Given the description of an element on the screen output the (x, y) to click on. 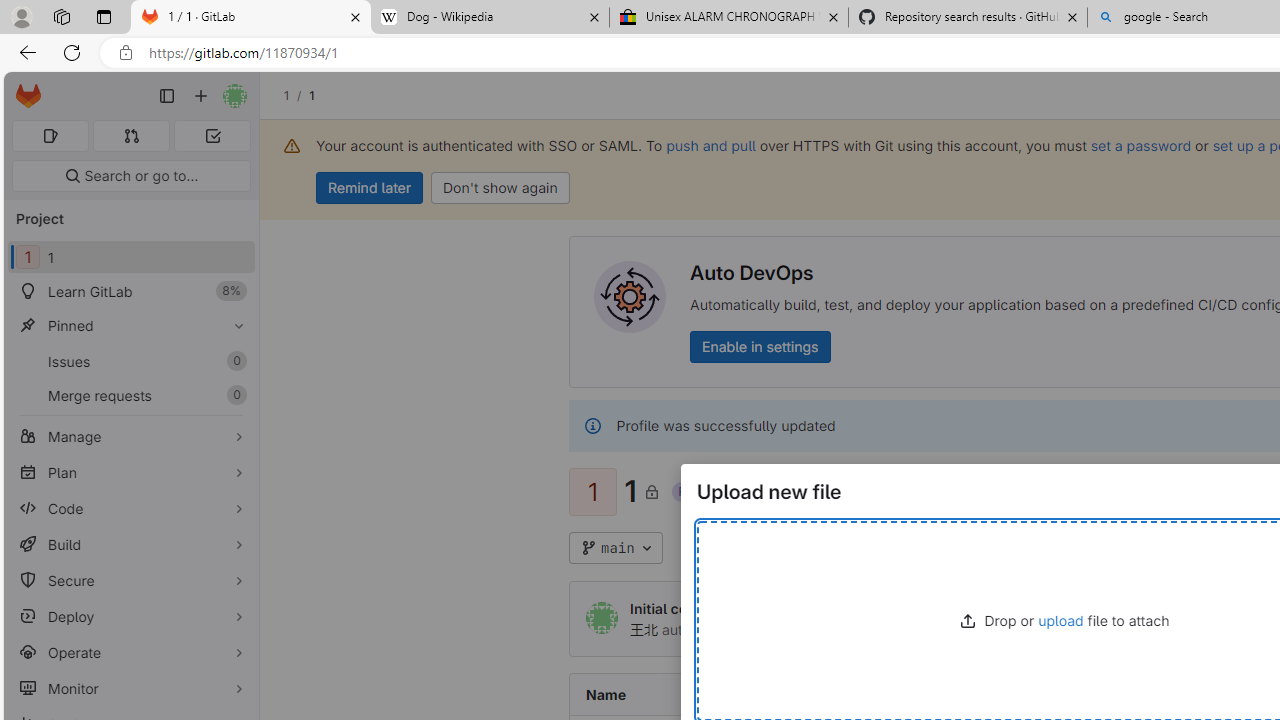
Remind later (369, 187)
Build (130, 543)
Initial commit (675, 608)
Issues0 (130, 361)
Class: s16 gl-alert-icon gl-alert-icon-no-title (592, 426)
Create new... (201, 96)
Unpin Merge requests (234, 395)
Enable in settings (759, 346)
1 (684, 547)
Dog - Wikipedia (490, 17)
